Given the description of an element on the screen output the (x, y) to click on. 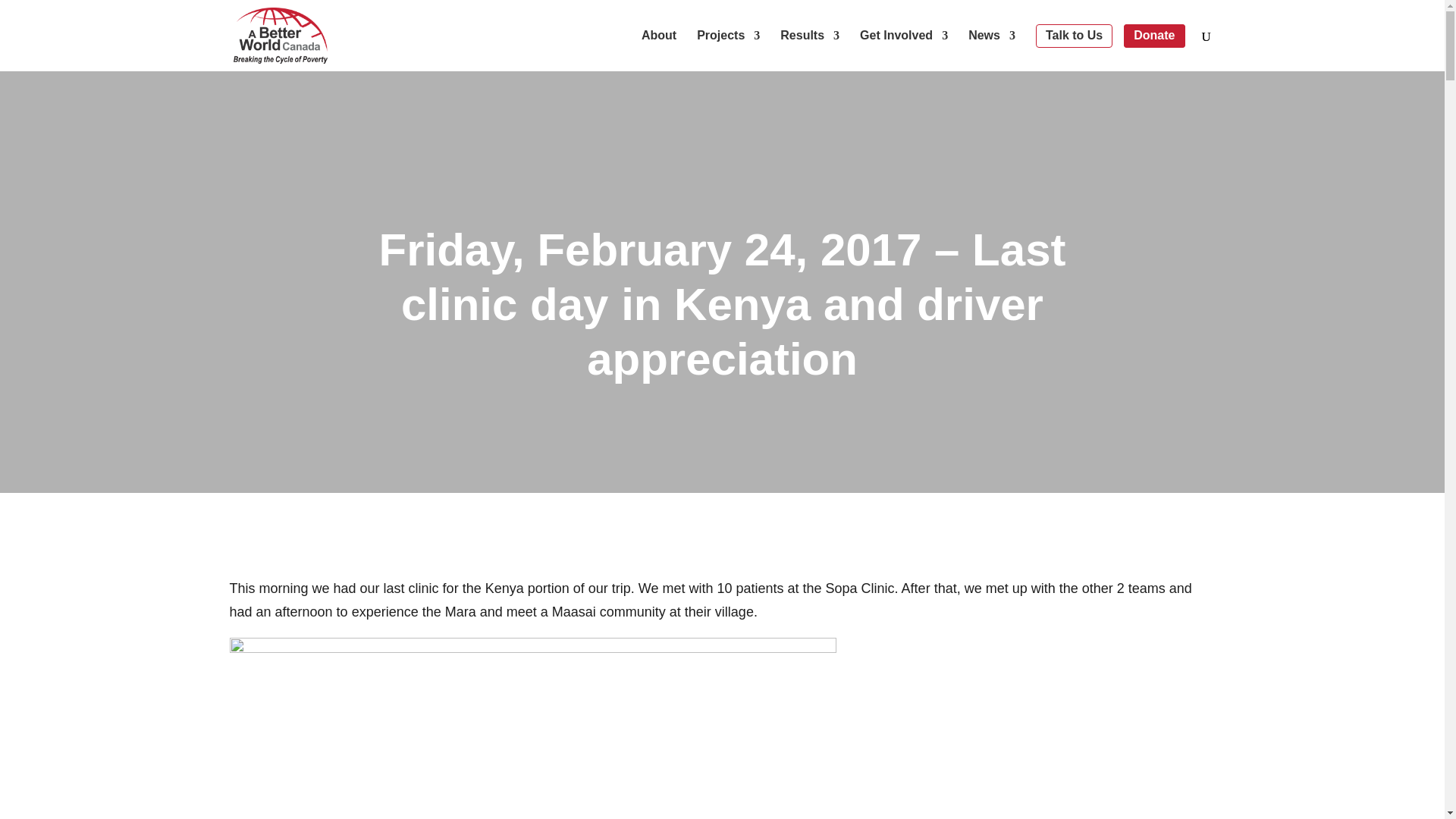
News (991, 50)
About (659, 50)
Donate (1154, 35)
Results (810, 50)
Talk to Us (1073, 35)
Get Involved (903, 50)
Projects (728, 50)
